Given the description of an element on the screen output the (x, y) to click on. 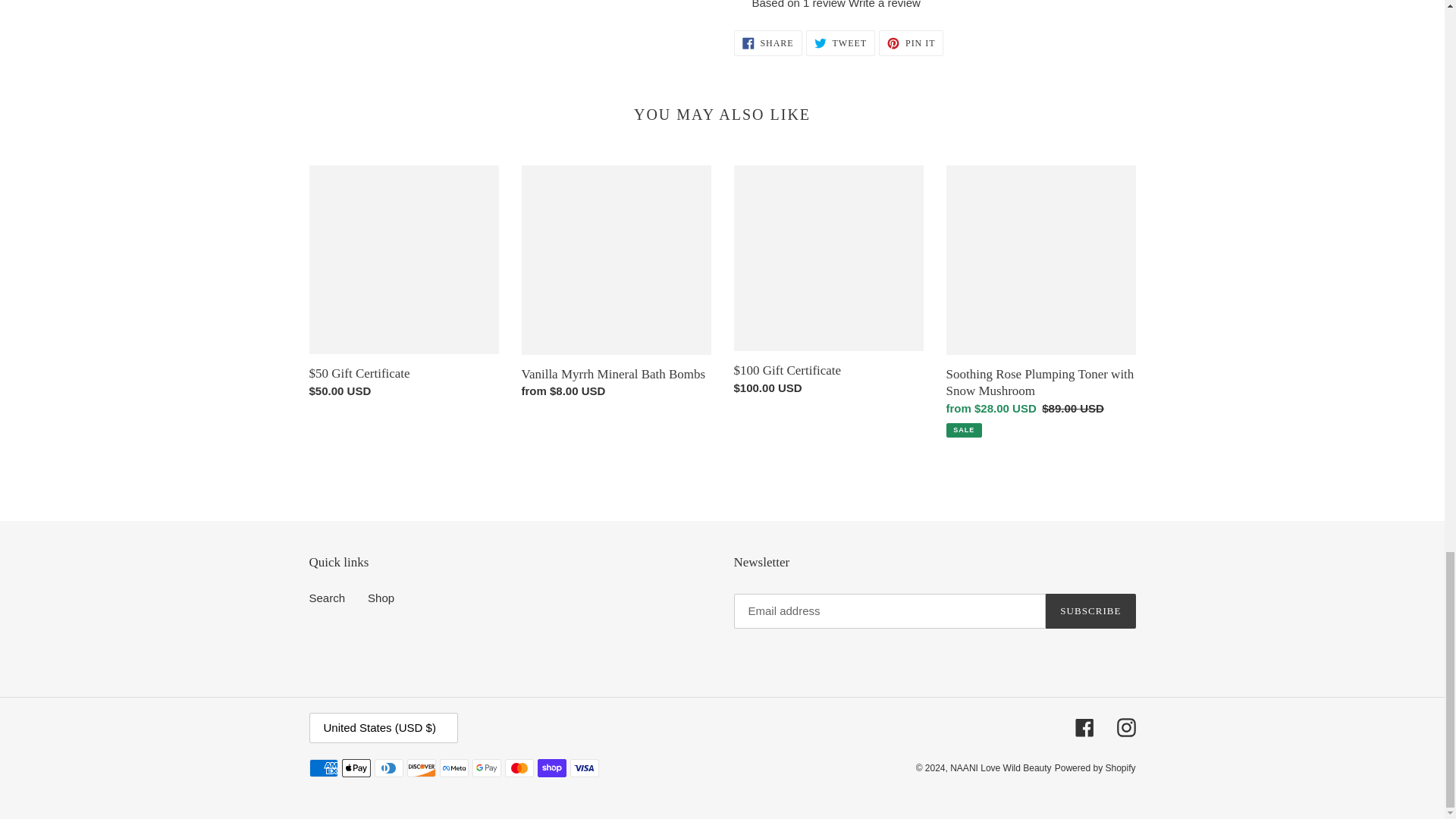
Write a review (884, 4)
